Given the description of an element on the screen output the (x, y) to click on. 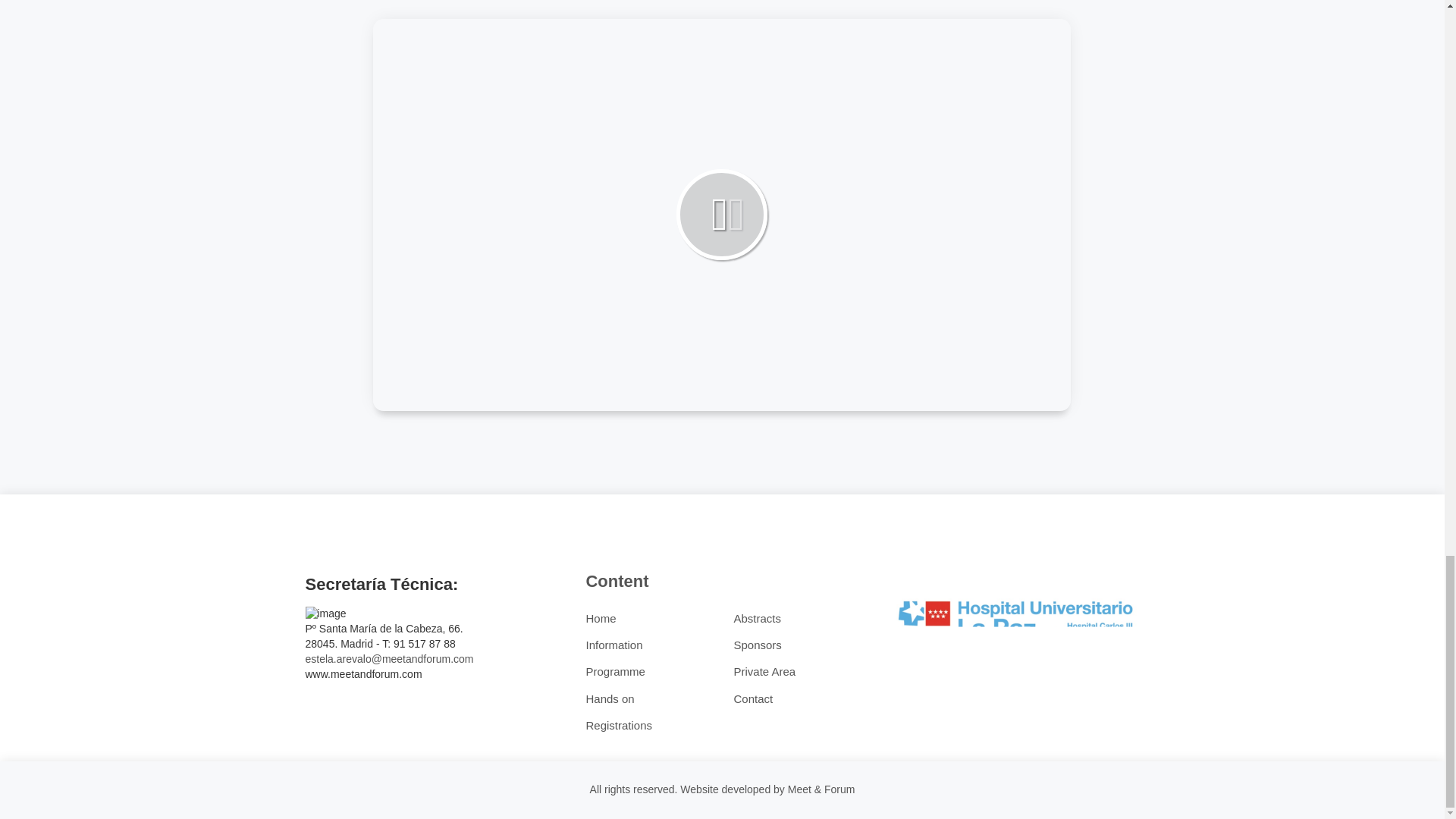
Programme (615, 671)
Private Area (763, 671)
Home (600, 617)
Hands on (609, 698)
Abstracts (756, 617)
Registrations (618, 725)
Sponsors (756, 644)
Information (613, 644)
